Given the description of an element on the screen output the (x, y) to click on. 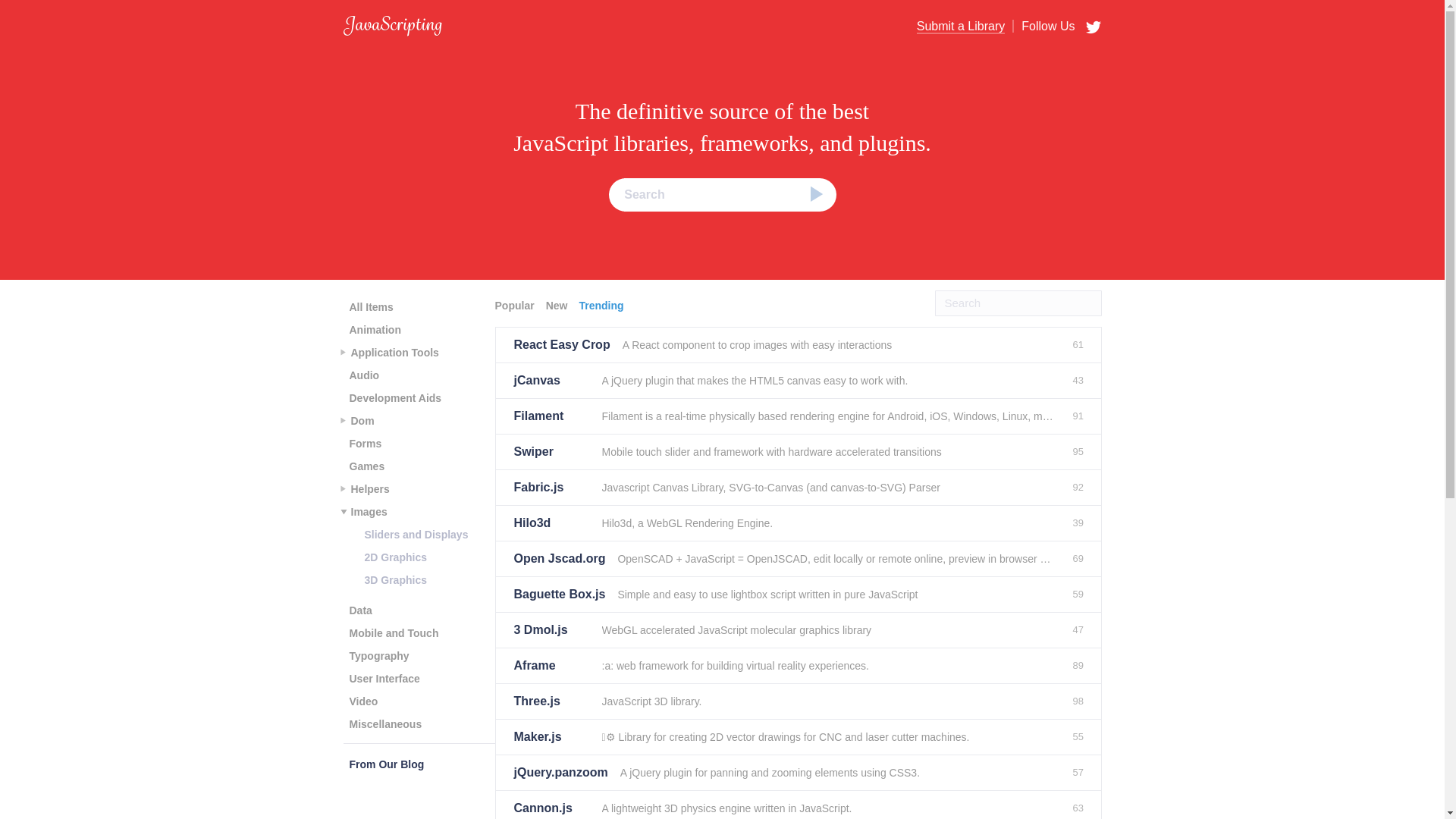
All Items (370, 306)
Games (366, 466)
Fabric.js (551, 487)
Trending (602, 305)
Sliders and Displays (416, 534)
Follow Us (1042, 25)
Typography (378, 655)
Forms (364, 443)
jCanvas (551, 380)
Animation (374, 329)
